Given the description of an element on the screen output the (x, y) to click on. 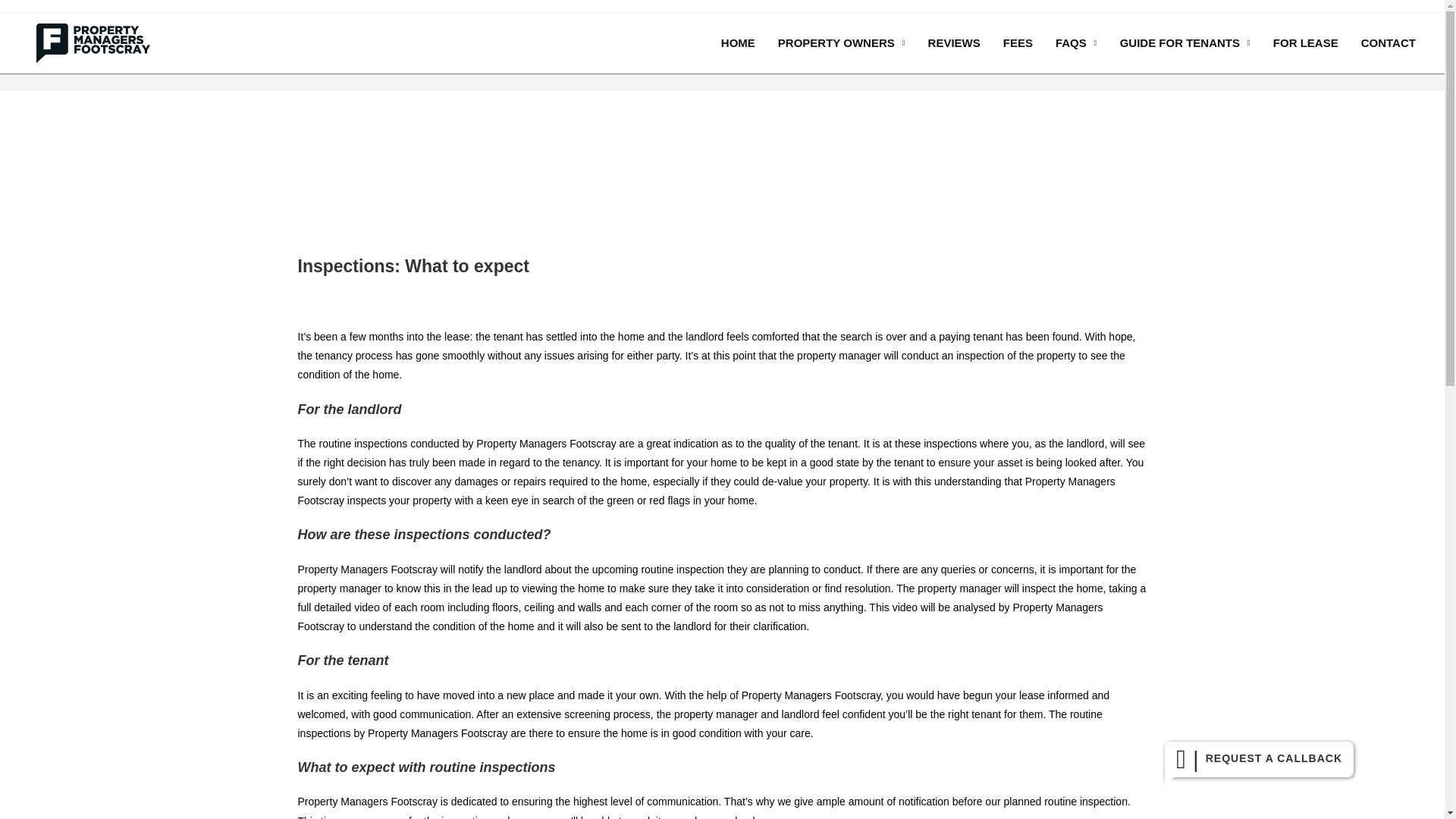
PROPERTY OWNERS (841, 43)
FOR LEASE (1305, 43)
HOME (737, 43)
Home (1032, 51)
CONTACT (1388, 43)
GUIDE FOR TENANTS (1184, 43)
FEES (1017, 43)
REVIEWS (953, 43)
FAQS (1076, 43)
